Given the description of an element on the screen output the (x, y) to click on. 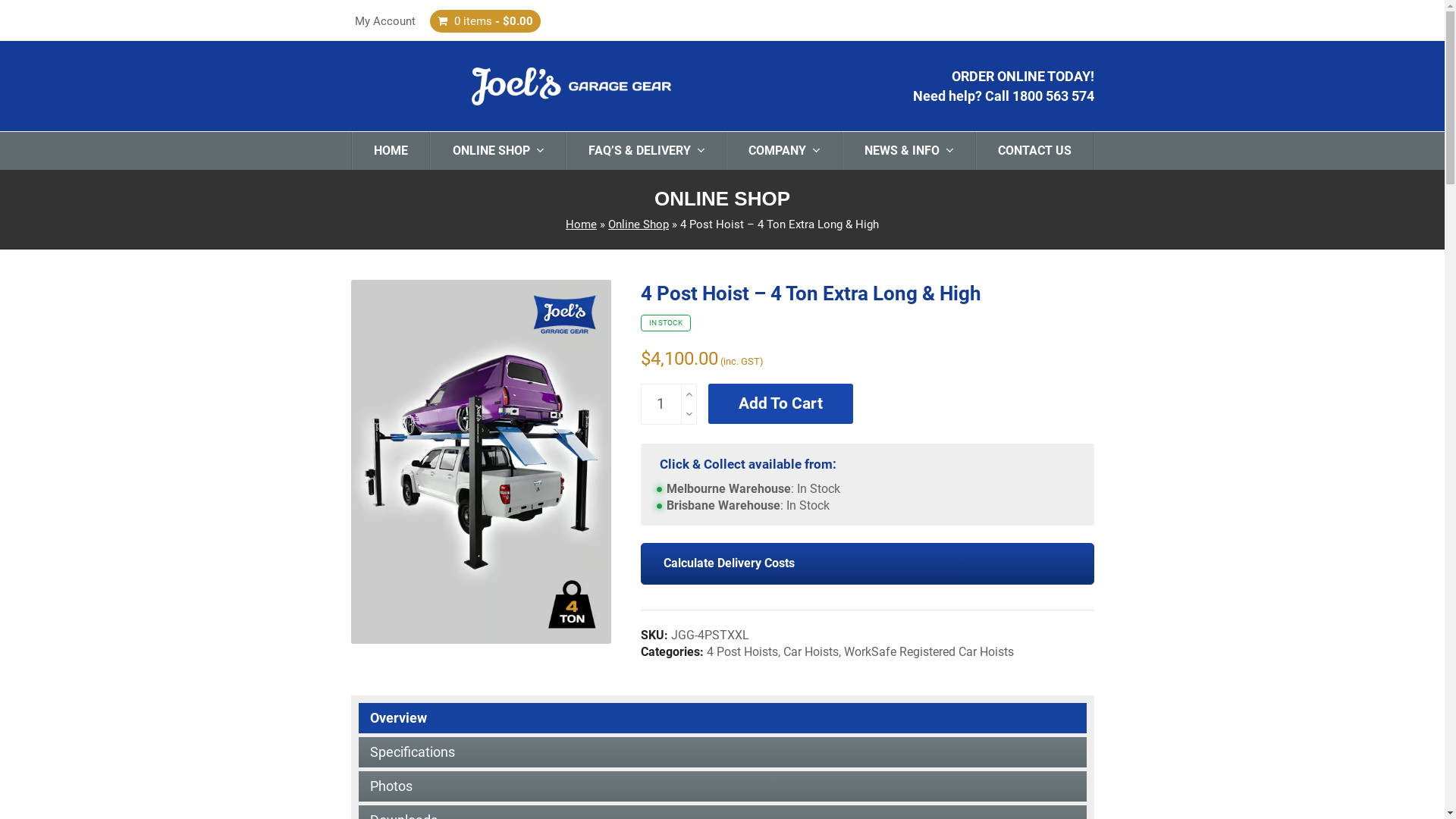
Home Element type: text (580, 224)
Online Shop Element type: text (638, 224)
My Account Element type: text (384, 21)
CONTACT US Element type: text (1034, 150)
Specifications Element type: text (721, 752)
Overview Element type: text (721, 717)
Photos Element type: text (721, 786)
1800 563 574 Element type: text (1052, 95)
0 items$0.00 Element type: text (484, 20)
4 Post Hoists Element type: text (742, 651)
ONLINE SHOP Element type: text (497, 150)
HOME Element type: text (390, 150)
Add To Cart Element type: text (780, 403)
COMPANY Element type: text (784, 150)
WorkSafe Registered Car Hoists Element type: text (928, 651)
NEWS & INFO Element type: text (909, 150)
Car Hoists Element type: text (810, 651)
